Given the description of an element on the screen output the (x, y) to click on. 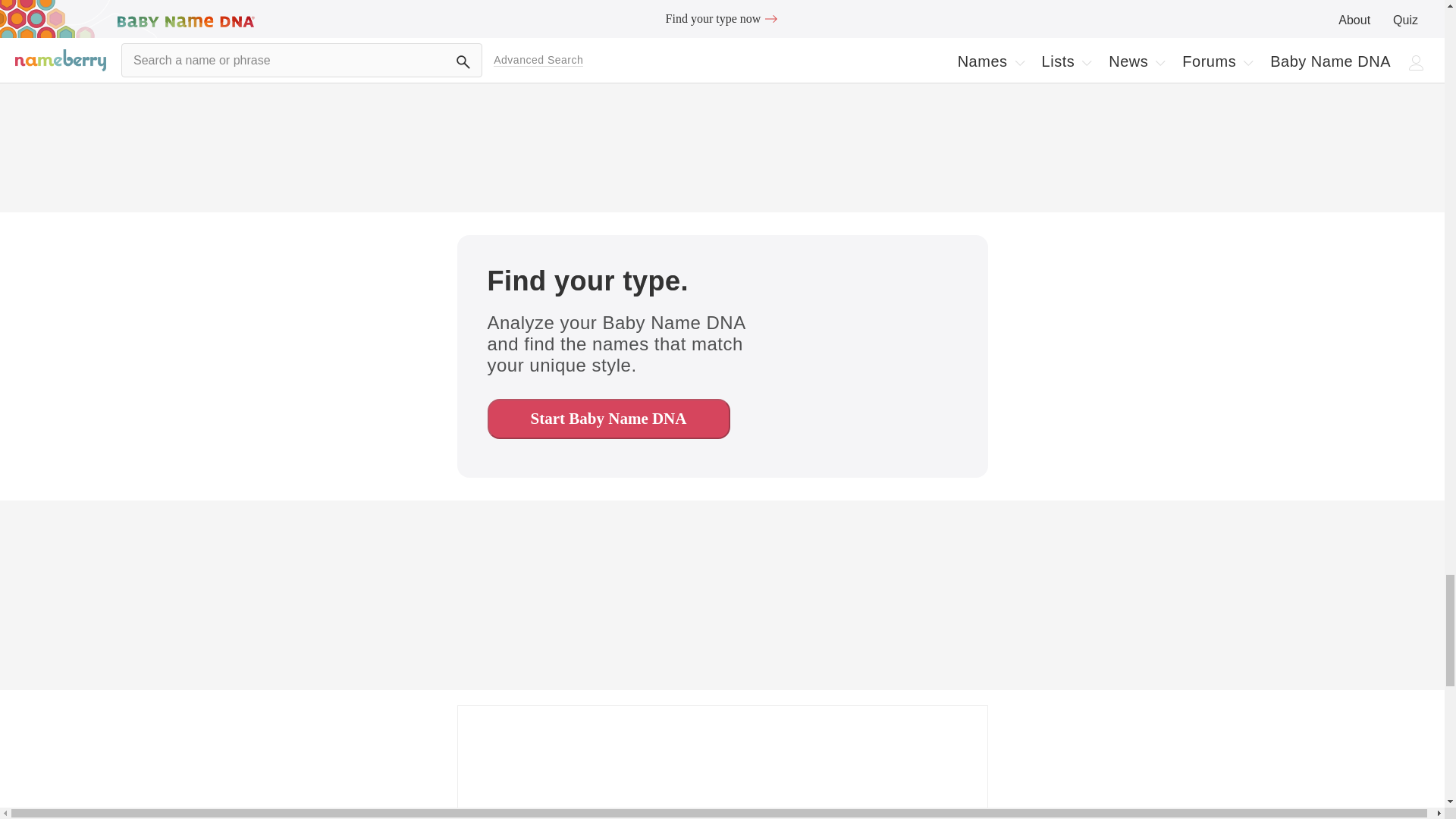
Sign up for the Nameberry Newsletter (722, 762)
